Given the description of an element on the screen output the (x, y) to click on. 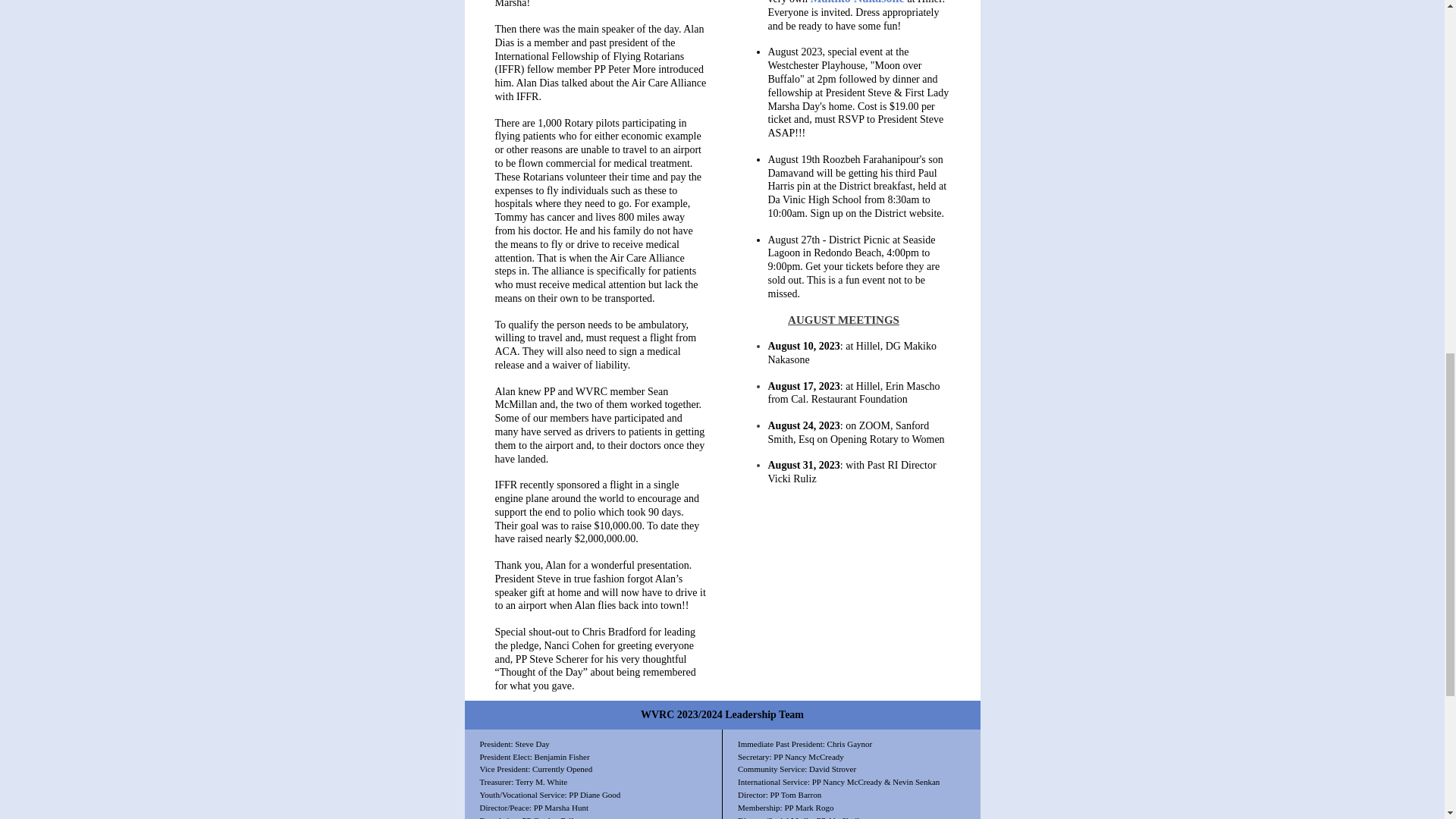
Makiko Nakasone (856, 2)
